Given the description of an element on the screen output the (x, y) to click on. 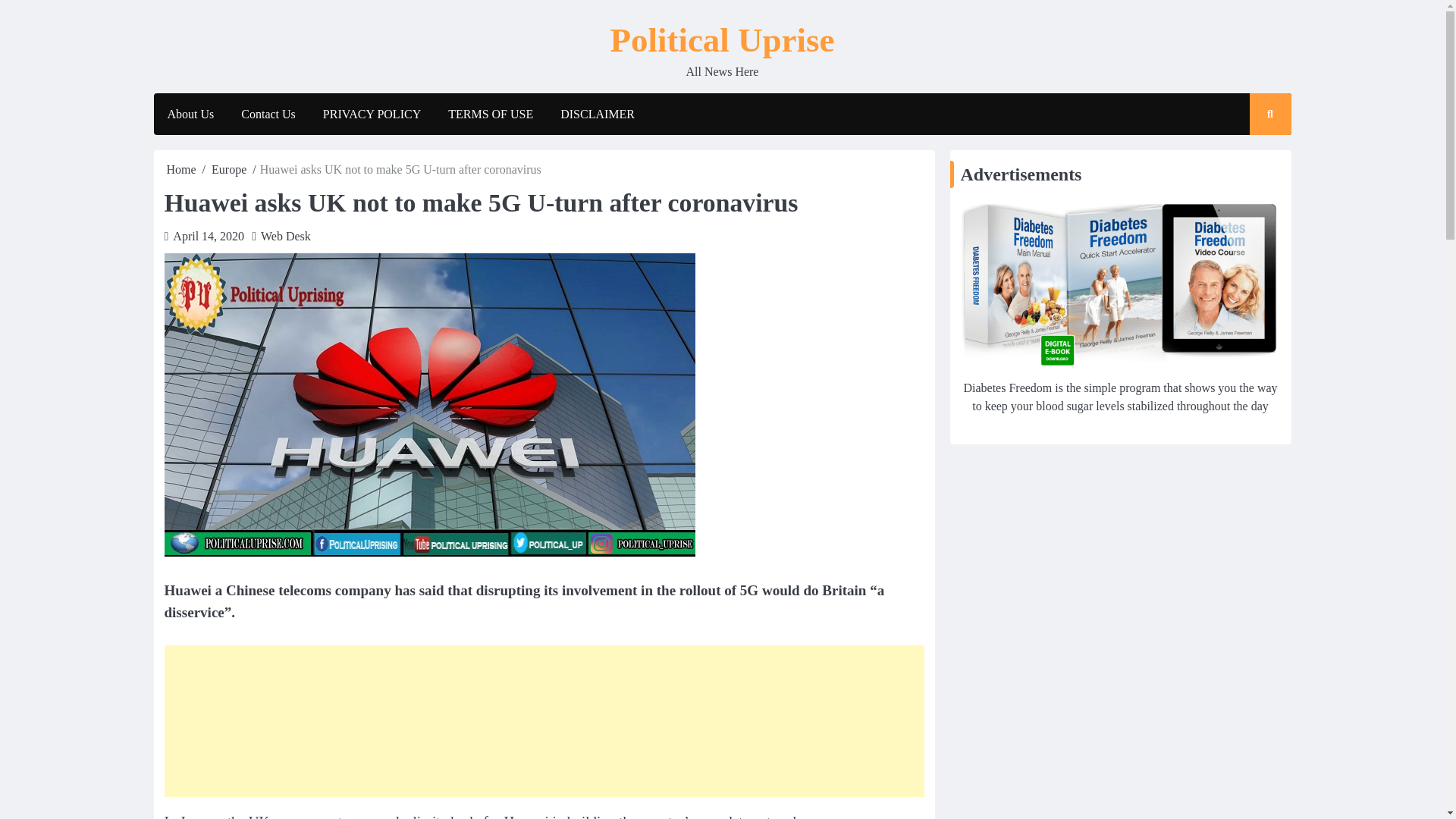
Search (1256, 158)
PRIVACY POLICY (370, 114)
Contact Us (267, 114)
Political Uprise (722, 39)
About Us (189, 114)
government (307, 816)
April 14, 2020 (208, 236)
TERMS OF USE (490, 114)
Web Desk (285, 236)
Europe (228, 169)
DISCLAIMER (597, 114)
Home (181, 169)
Advertisement (543, 720)
Advertisements (1119, 283)
